Given the description of an element on the screen output the (x, y) to click on. 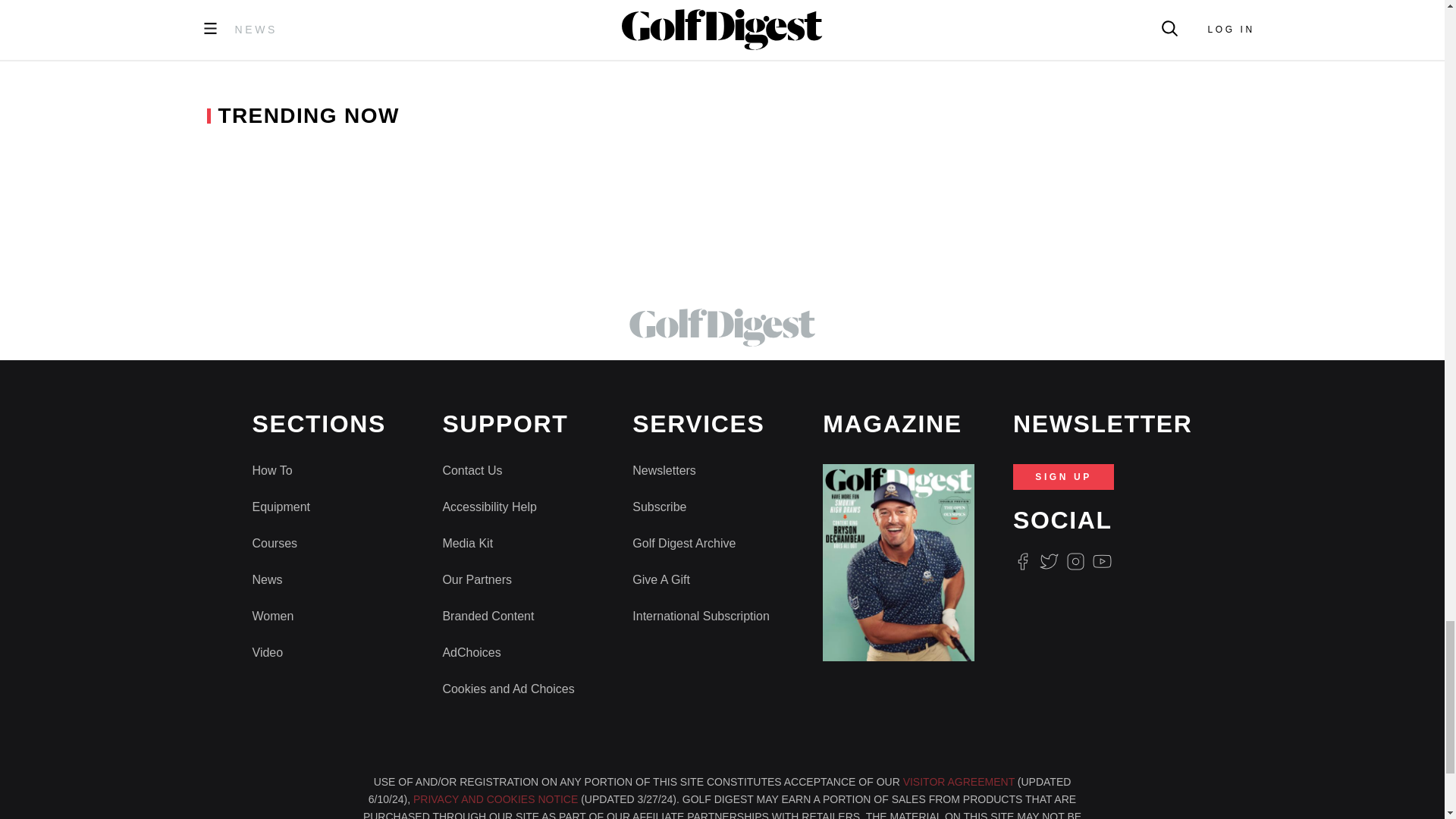
Facebook Logo (1022, 561)
Instagram Logo (1074, 561)
Youtube Icon (1102, 561)
Twitter Logo (1048, 561)
